Given the description of an element on the screen output the (x, y) to click on. 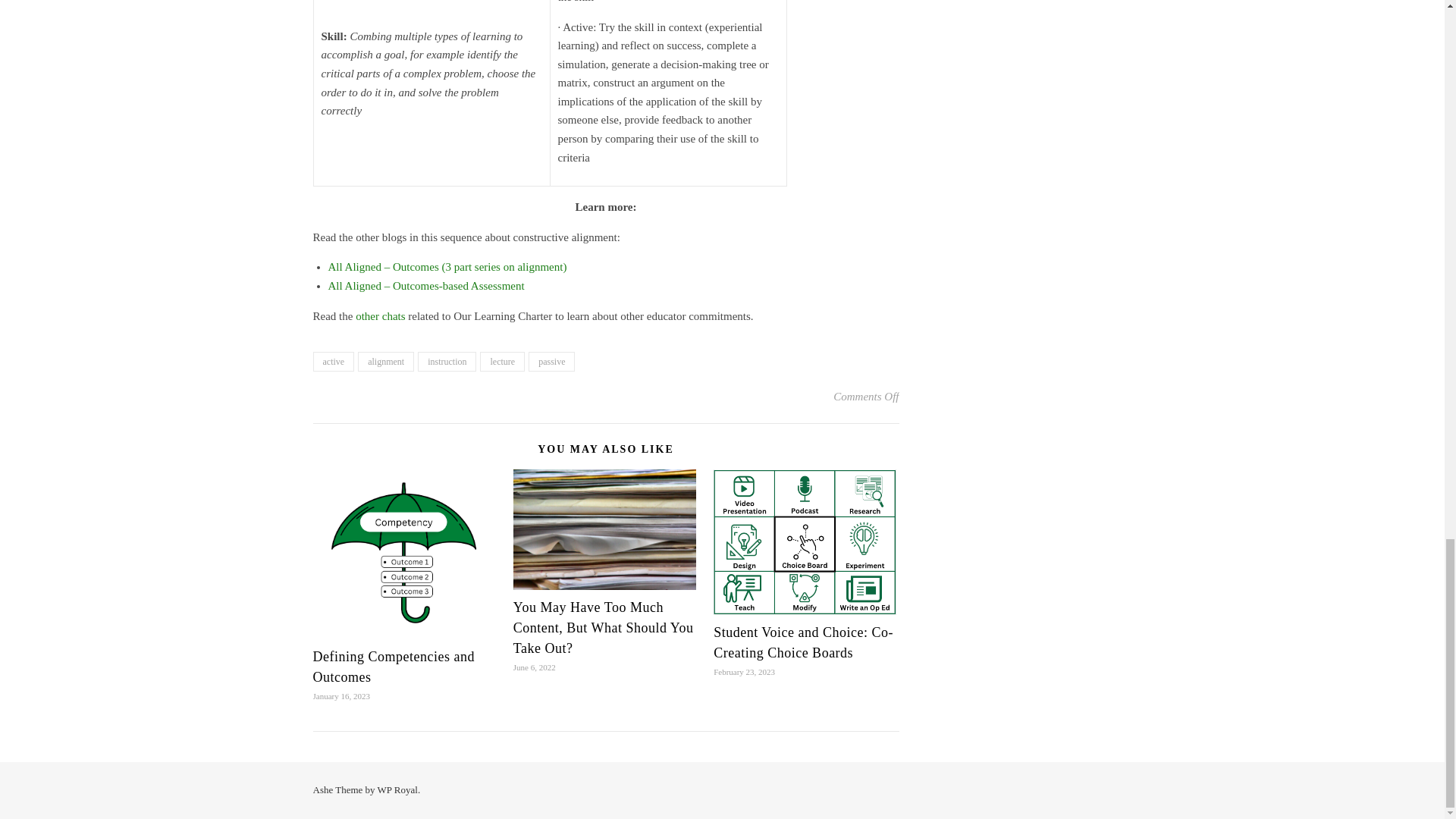
instruction (446, 361)
lecture (502, 361)
You May Have Too Much Content, But What Should You Take Out? (603, 627)
Student Voice and Choice: Co-Creating Choice Boards  (803, 642)
other chats  (381, 316)
alignment (385, 361)
active (333, 361)
Defining Competencies and Outcomes (393, 666)
passive (551, 361)
